Given the description of an element on the screen output the (x, y) to click on. 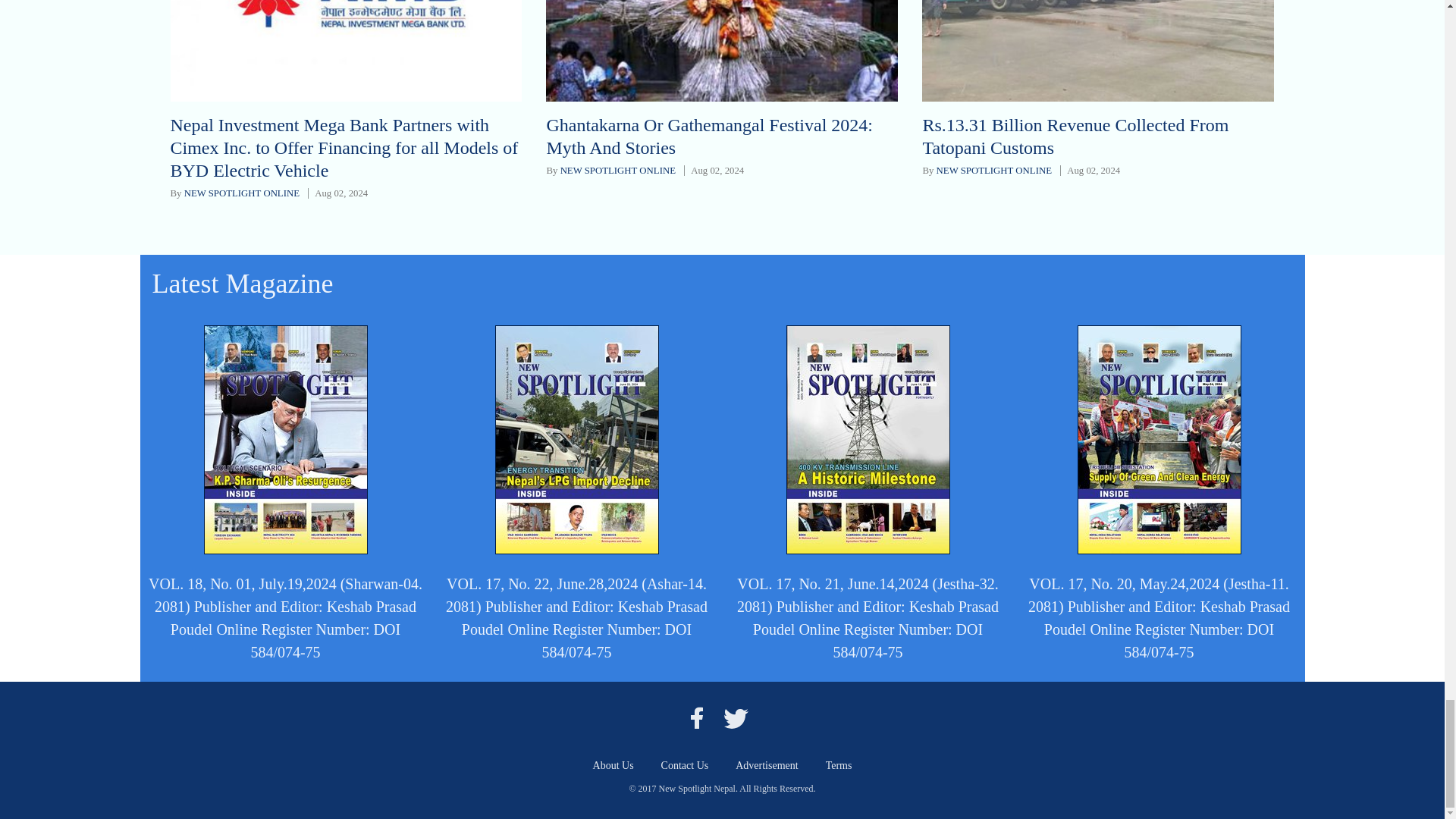
Spotlight Nepal Facebook (695, 717)
Spotlight Nepal Twitter (735, 717)
facebook icon (695, 717)
twitter icon (735, 717)
